Given the description of an element on the screen output the (x, y) to click on. 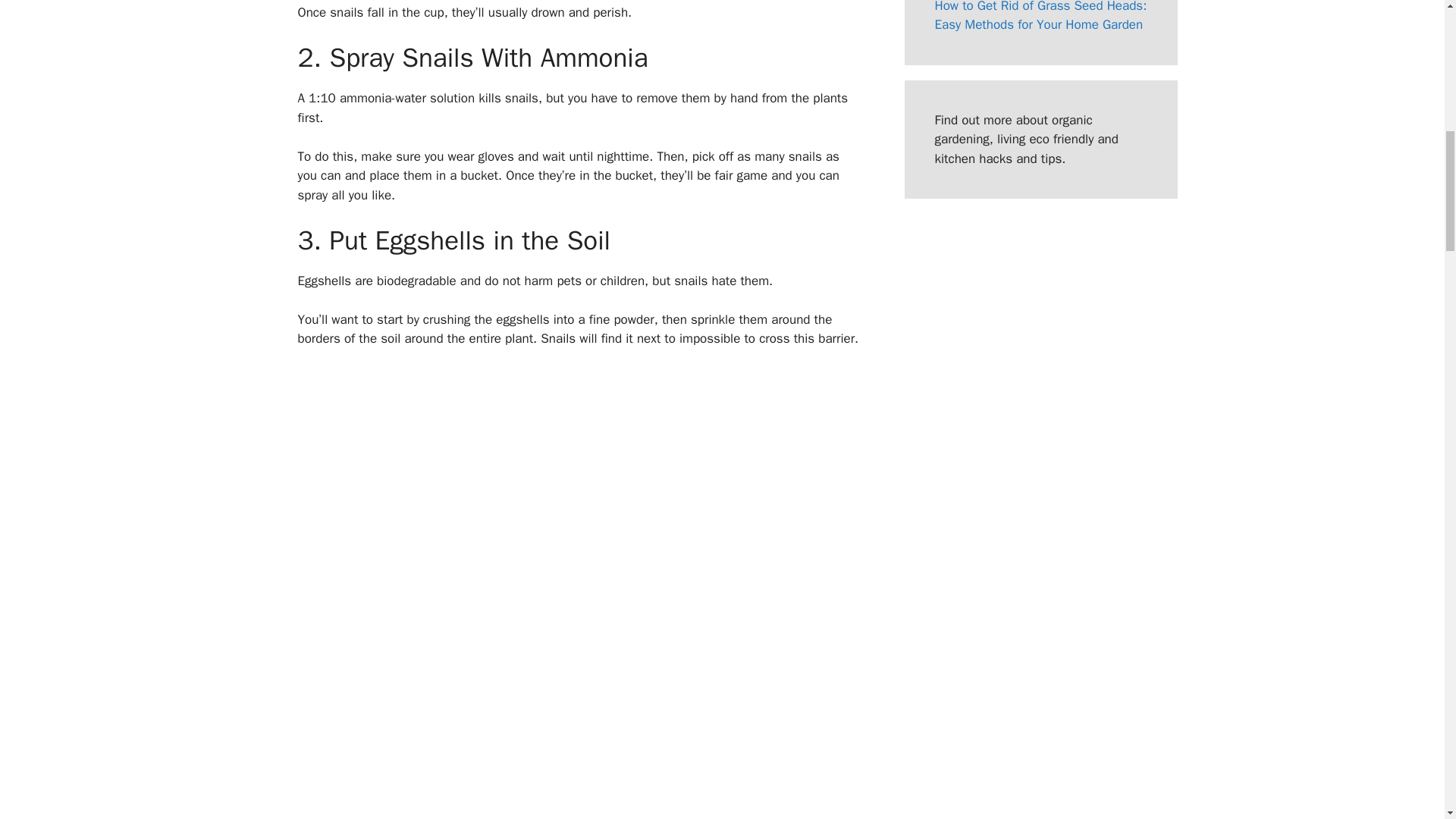
Scroll back to top (1406, 720)
